Given the description of an element on the screen output the (x, y) to click on. 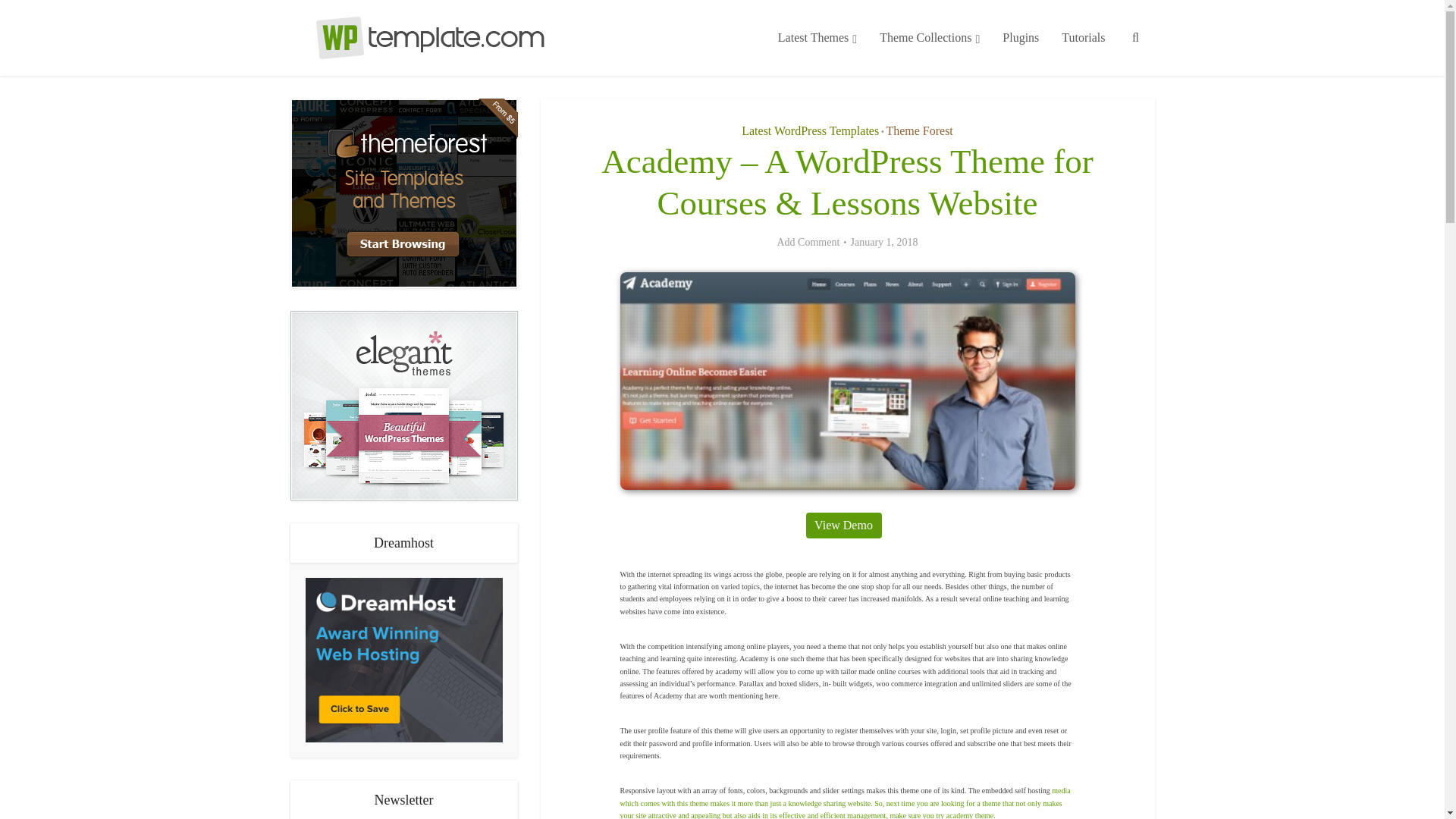
Latest WordPress Templates (810, 130)
View Demo (842, 525)
WPTemplate.com (418, 37)
Theme Forest (918, 130)
Theme Collections (929, 38)
Latest Themes (817, 38)
 Academy (847, 380)
Add Comment (808, 242)
